Given the description of an element on the screen output the (x, y) to click on. 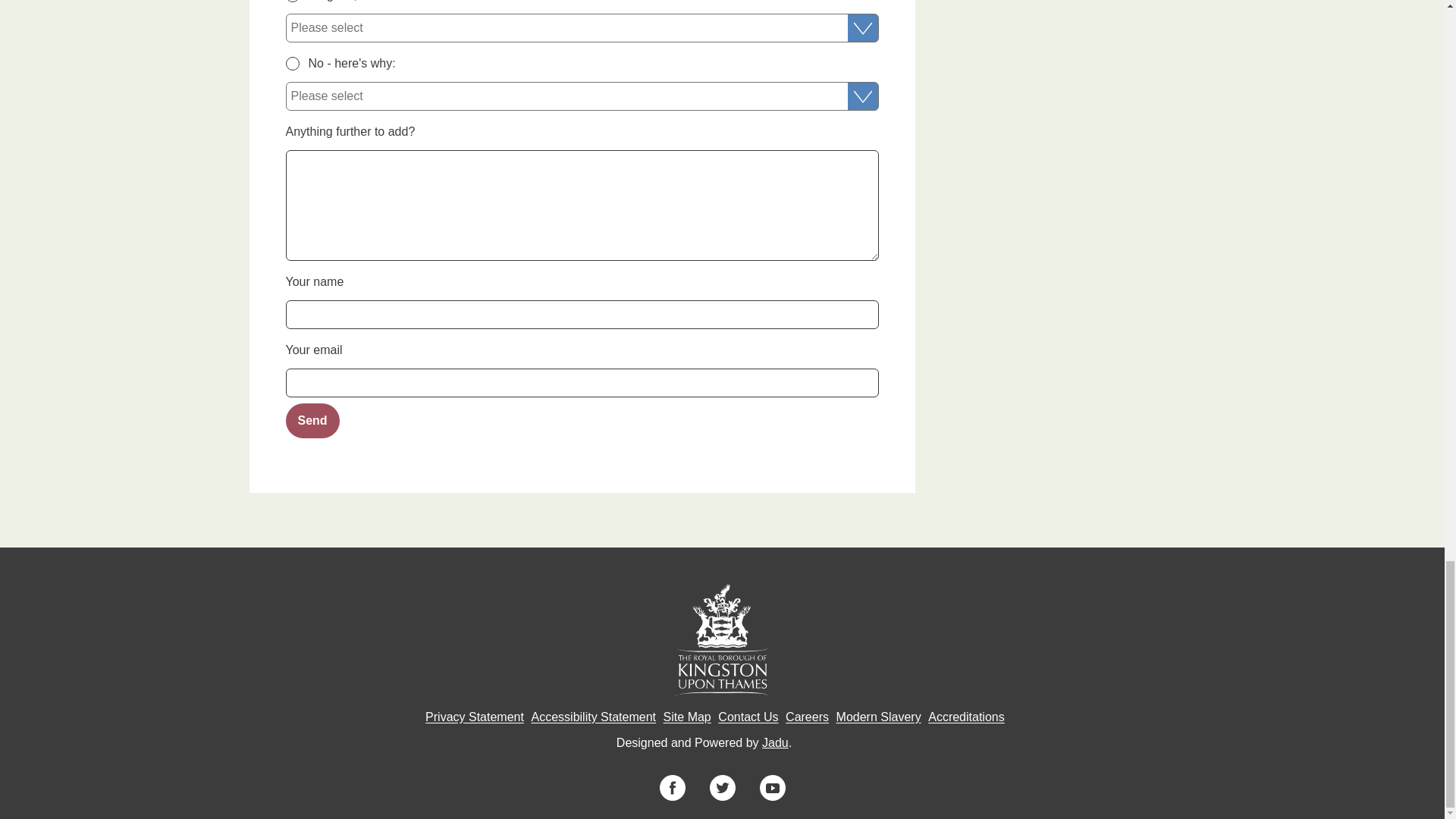
Follow us on Facebook (672, 787)
Follow us on YouTube (773, 787)
Follow us on Twitter (722, 787)
Send (312, 420)
